Given the description of an element on the screen output the (x, y) to click on. 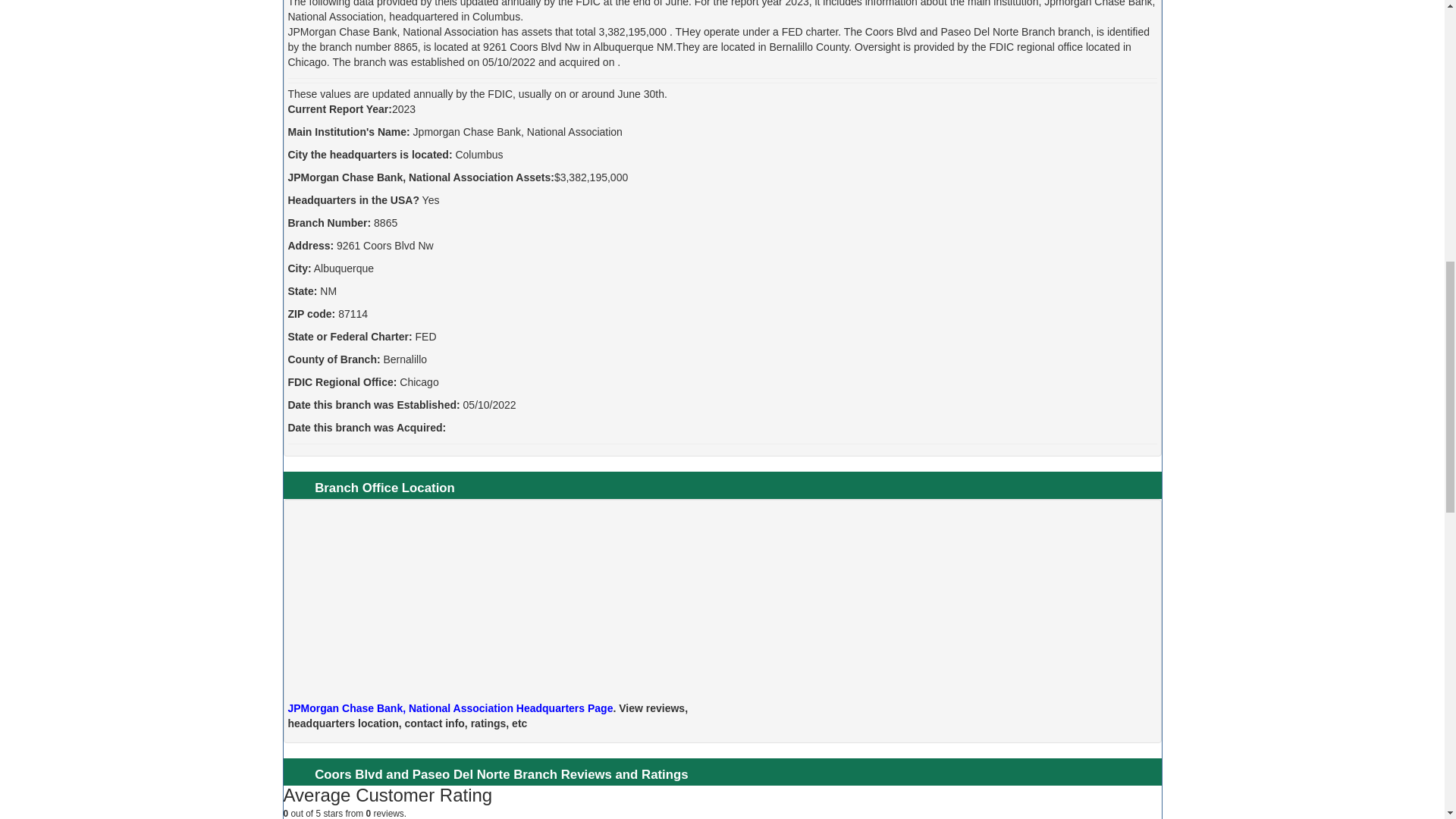
JPMorgan Chase Bank, National Association Headquarters Page (450, 707)
